Given the description of an element on the screen output the (x, y) to click on. 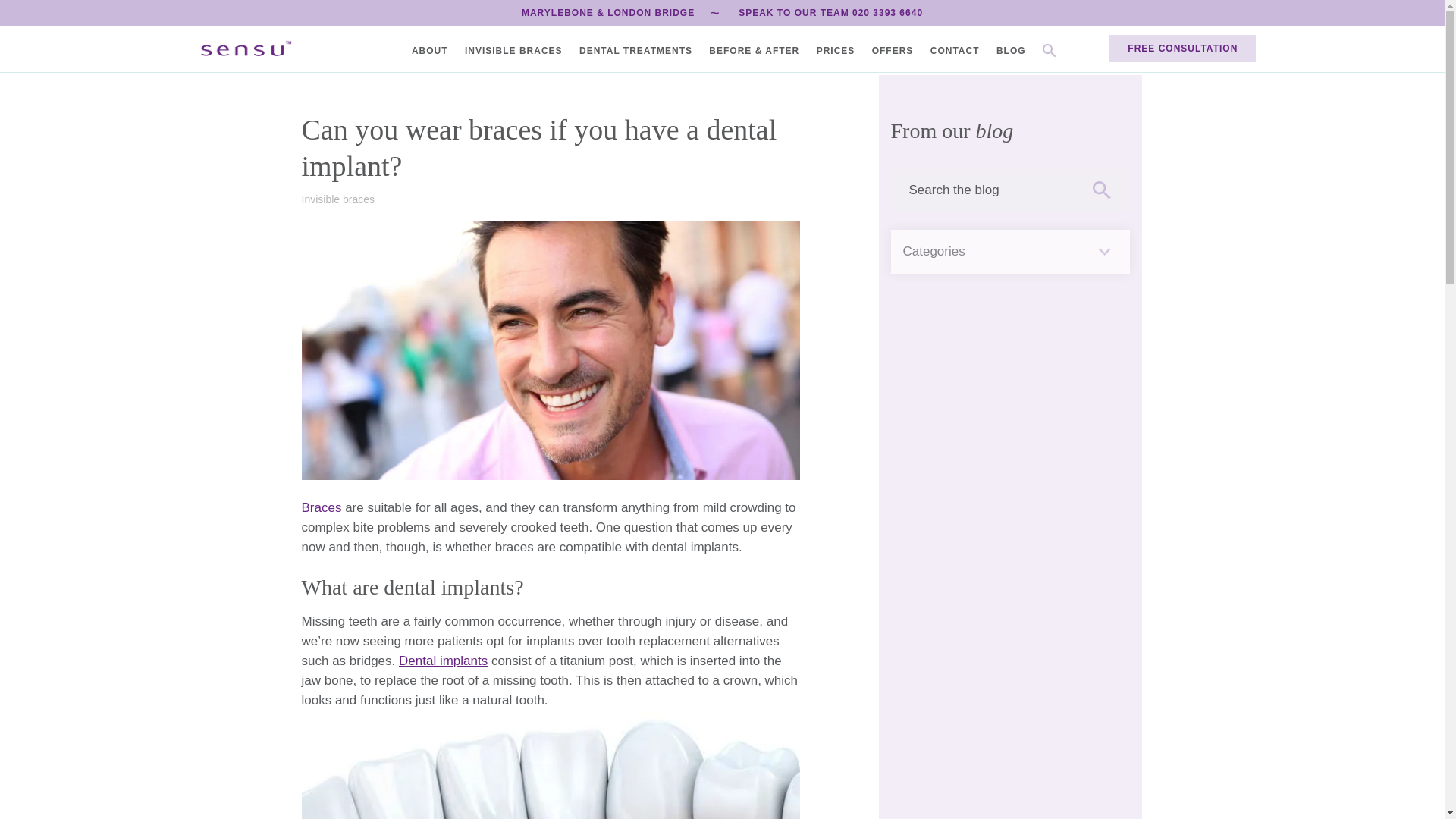
OFFERS (893, 50)
FREE CONSULTATION (1182, 48)
PRICES (836, 50)
ABOUT (430, 50)
DENTAL TREATMENTS (636, 50)
BLOG (1010, 50)
INVISIBLE BRACES (513, 50)
CONTACT (954, 50)
